Given the description of an element on the screen output the (x, y) to click on. 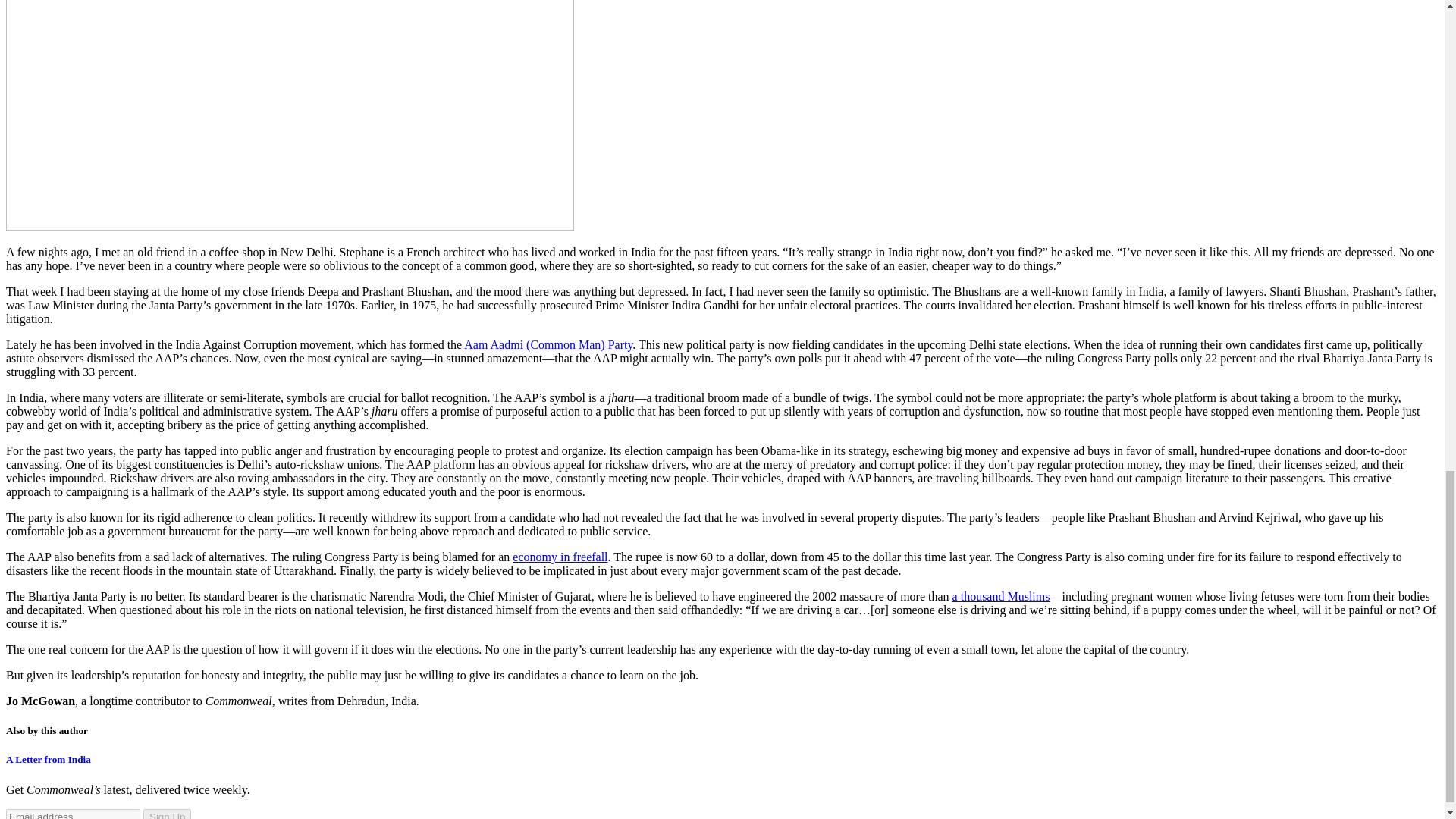
economy in freefall (559, 556)
a thousand Muslims (1000, 595)
A Letter from India (47, 758)
